Given the description of an element on the screen output the (x, y) to click on. 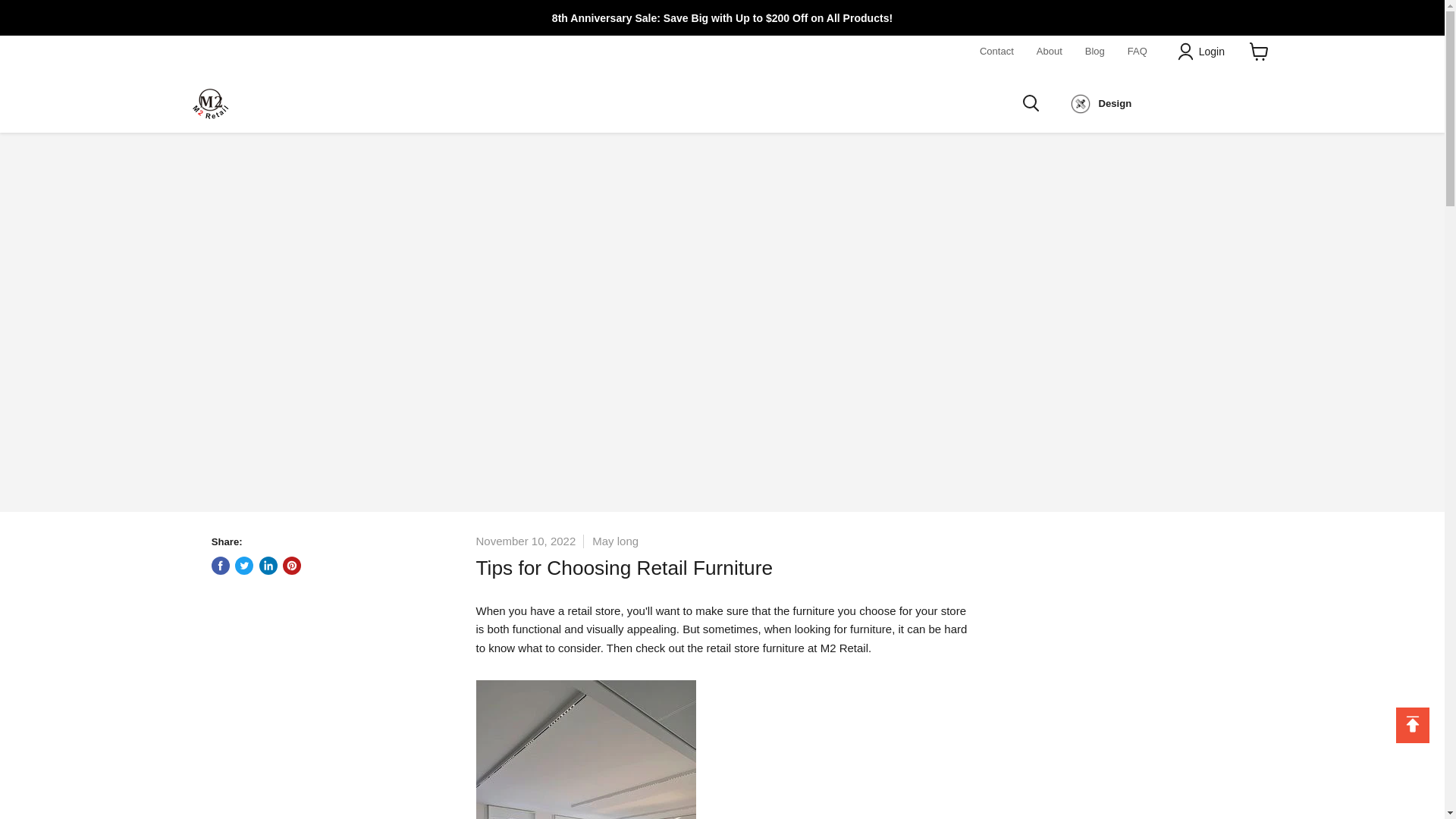
FAQ (1137, 51)
Blog (1095, 51)
Design (1099, 103)
View cart (1258, 51)
Login (1211, 51)
Contact (996, 51)
About (1049, 51)
